Given the description of an element on the screen output the (x, y) to click on. 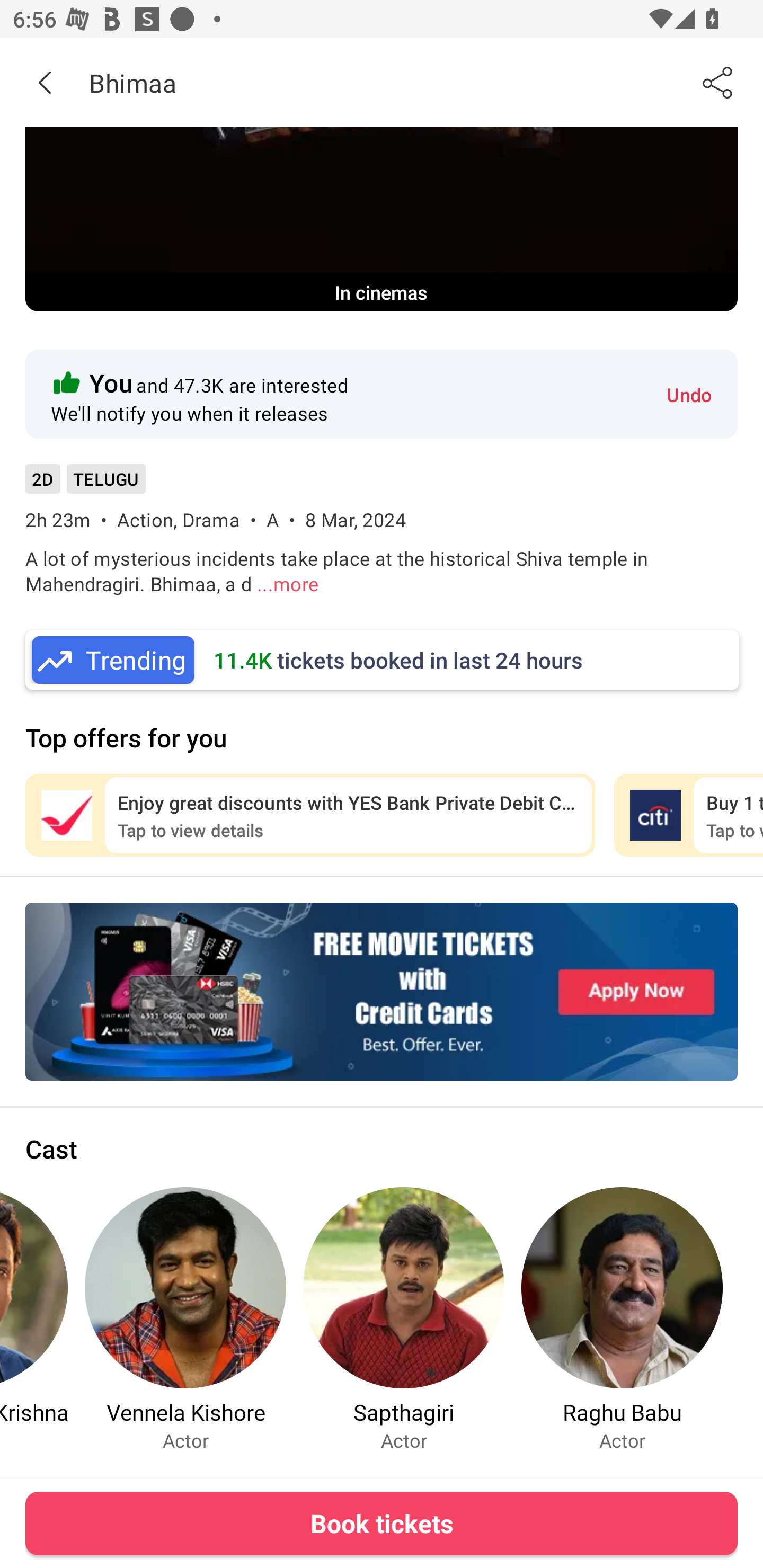
Back (44, 82)
Share (718, 82)
Movie Banner In cinemas (381, 219)
Undo (688, 394)
2D TELUGU (85, 485)
Vennela Kishore Actor (185, 1319)
Sapthagiri Actor (403, 1319)
Raghu Babu Actor (621, 1319)
Book tickets (381, 1523)
